Given the description of an element on the screen output the (x, y) to click on. 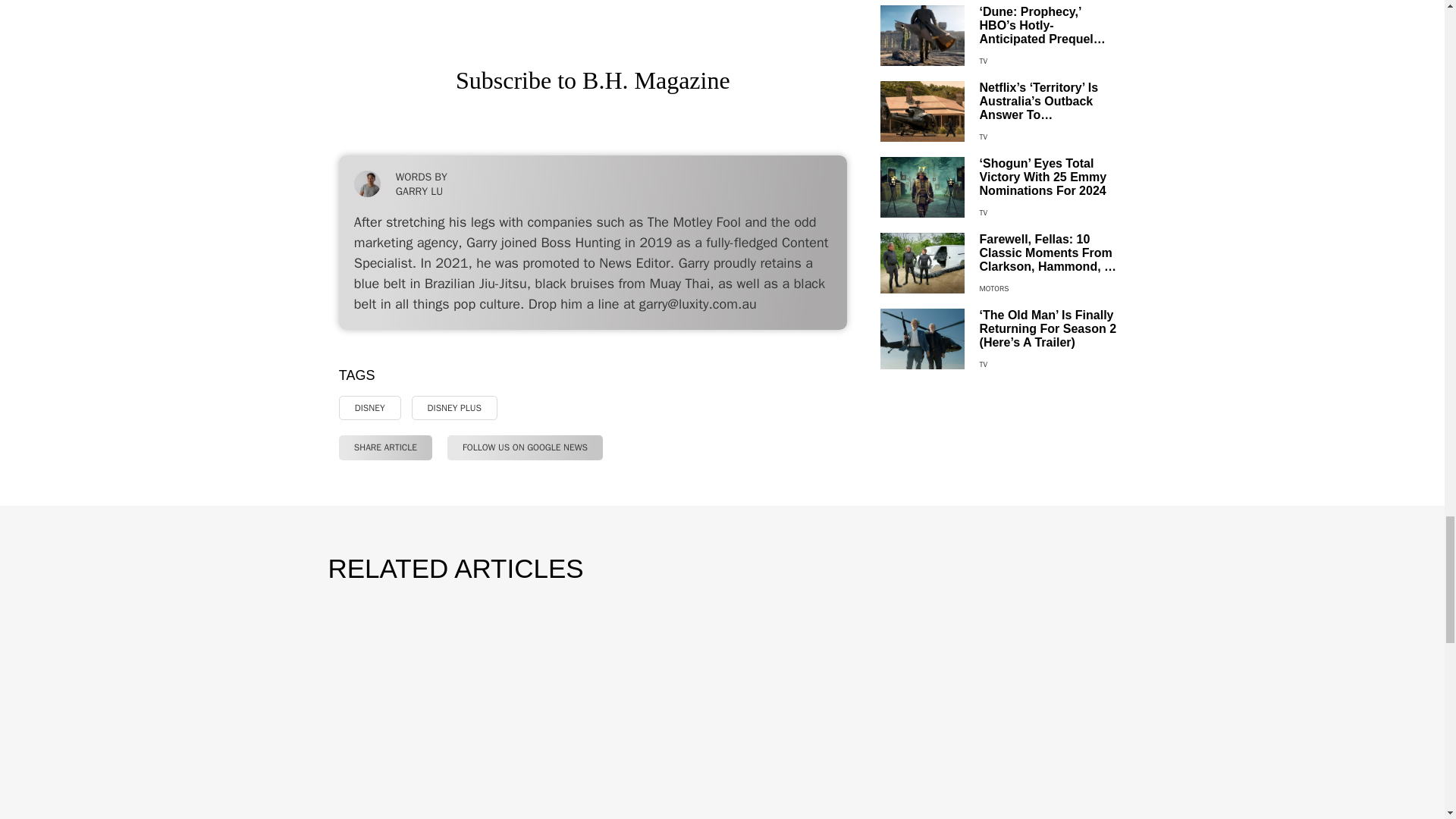
Futurama Moments that Aged a Bit Too Well (592, 13)
